Given the description of an element on the screen output the (x, y) to click on. 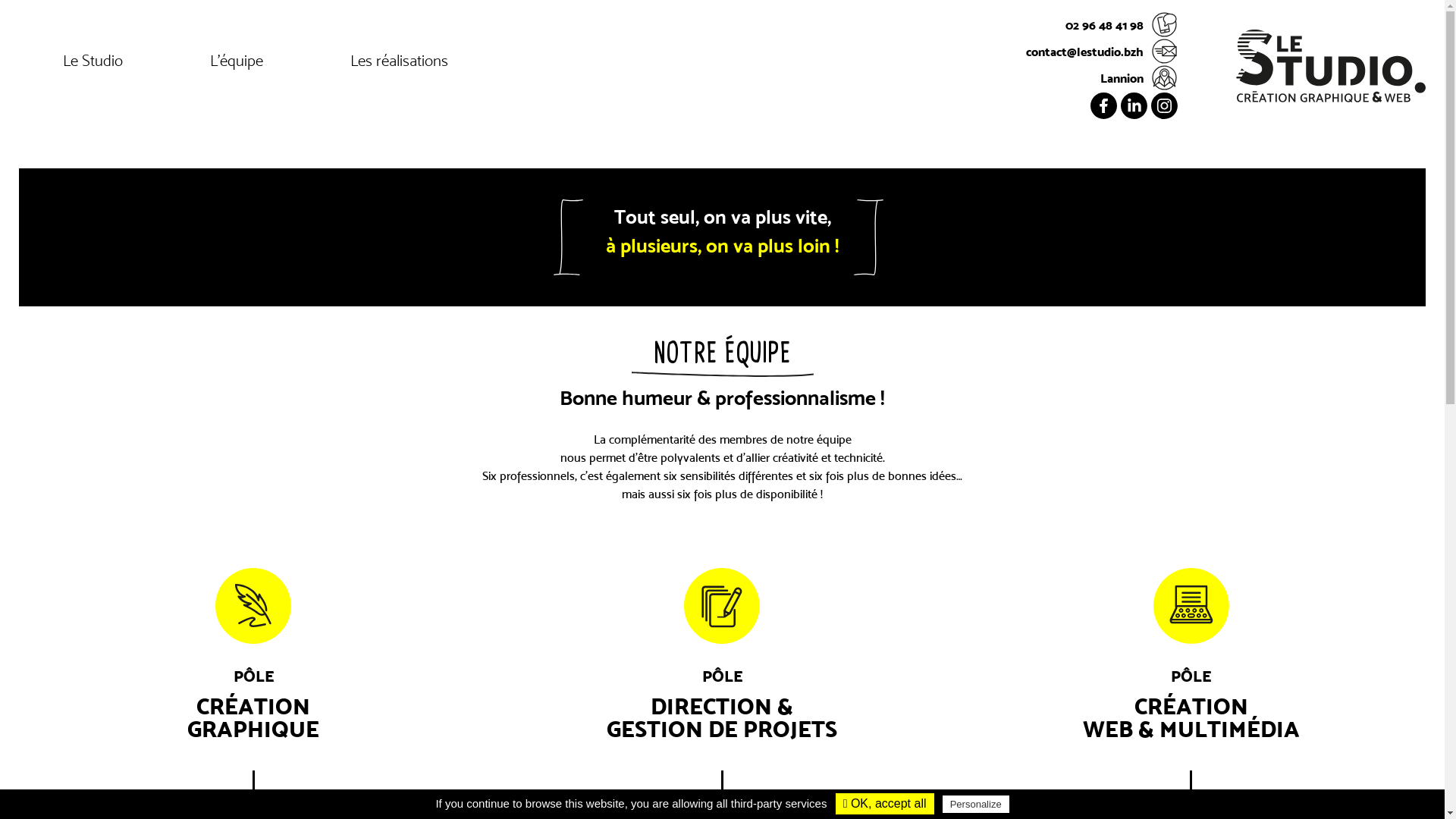
Lannion Element type: text (1101, 77)
Le Studio Element type: text (92, 65)
contact@lestudio.bzh Element type: text (1101, 50)
Personalize Element type: text (975, 803)
02 96 48 41 98 Element type: text (1101, 24)
